Given the description of an element on the screen output the (x, y) to click on. 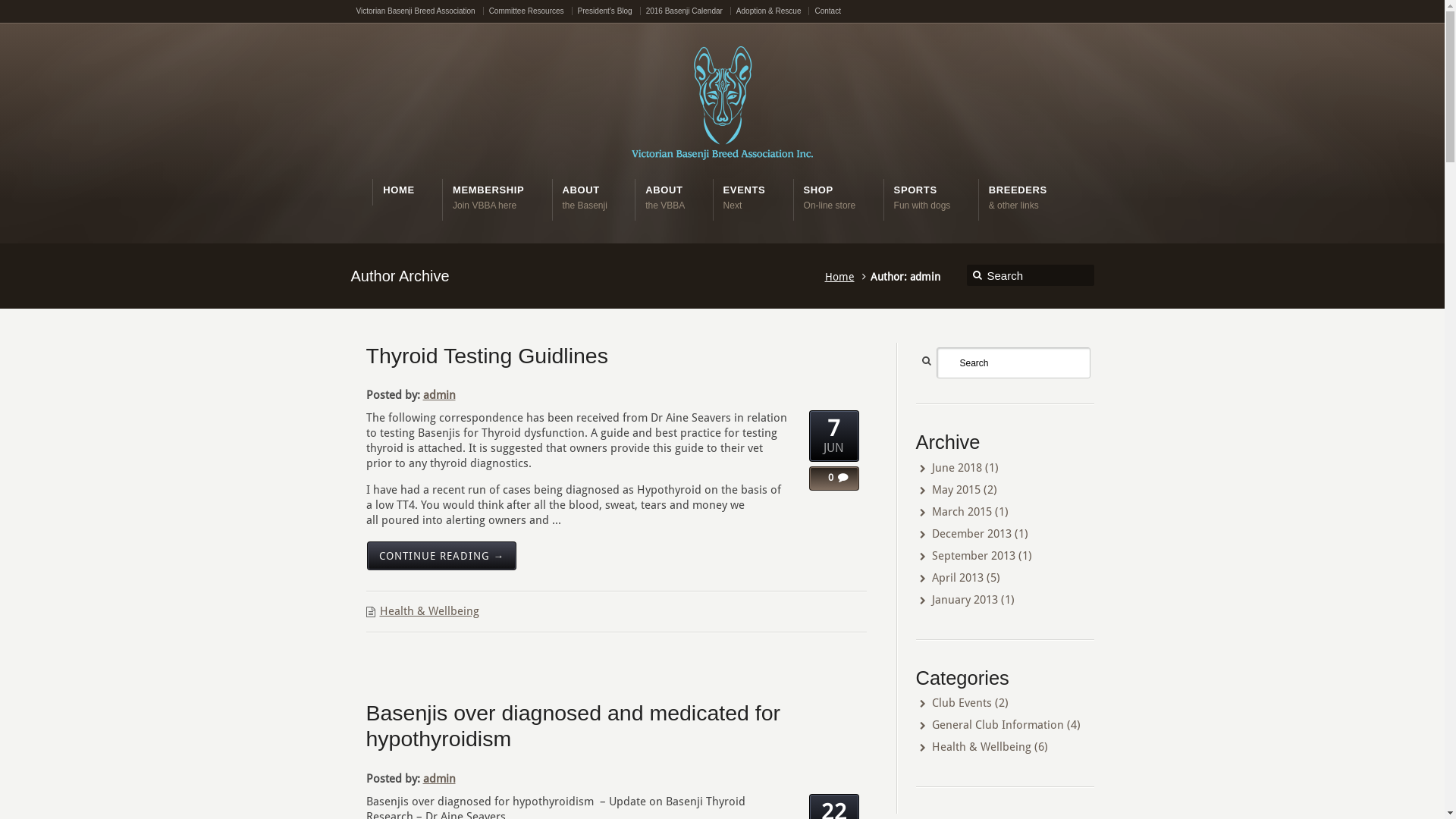
Basenjis over diagnosed and medicated for hypothyroidism Element type: text (572, 725)
0 Element type: text (826, 476)
Contact Element type: text (827, 10)
Home Element type: text (842, 276)
Victorian Basenji Breed Association Element type: text (419, 10)
SPORTS
Fun with dogs Element type: text (922, 196)
EVENTS
Next Element type: text (744, 196)
ABOUT
the VBBA Element type: text (664, 196)
March 2015 Element type: text (961, 511)
Health & Wellbeing Element type: text (428, 611)
search Element type: text (977, 276)
HOME Element type: text (398, 189)
admin Element type: text (439, 778)
Health & Wellbeing Element type: text (980, 746)
MEMBERSHIP
Join VBBA here Element type: text (488, 196)
admin Element type: text (439, 394)
Club Events Element type: text (961, 702)
June 2018 Element type: text (956, 467)
General Club Information Element type: text (997, 724)
Thyroid Testing Guidlines Element type: text (486, 355)
ABOUT
the Basenji Element type: text (584, 196)
BREEDERS
& other links Element type: text (1017, 196)
December 2013 Element type: text (970, 533)
Committee Resources Element type: text (530, 10)
May 2015 Element type: text (955, 489)
Adoption & Rescue Element type: text (772, 10)
January 2013 Element type: text (964, 599)
September 2013 Element type: text (972, 555)
2016 Basenji Calendar Element type: text (688, 10)
SHOP
On-line store Element type: text (829, 196)
April 2013 Element type: text (956, 577)
